Given the description of an element on the screen output the (x, y) to click on. 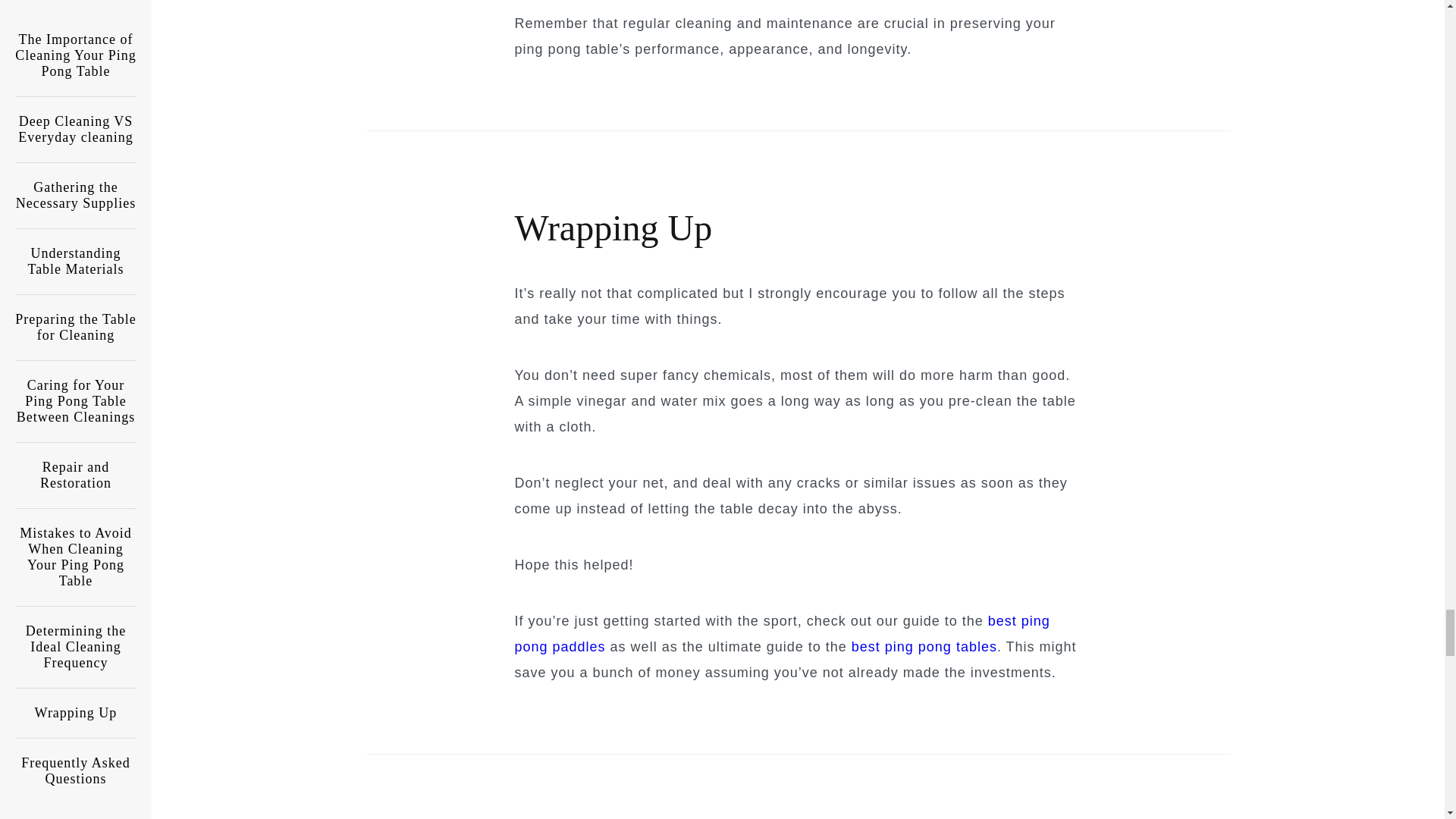
best ping pong tables (924, 646)
best ping pong paddles (781, 633)
